Given the description of an element on the screen output the (x, y) to click on. 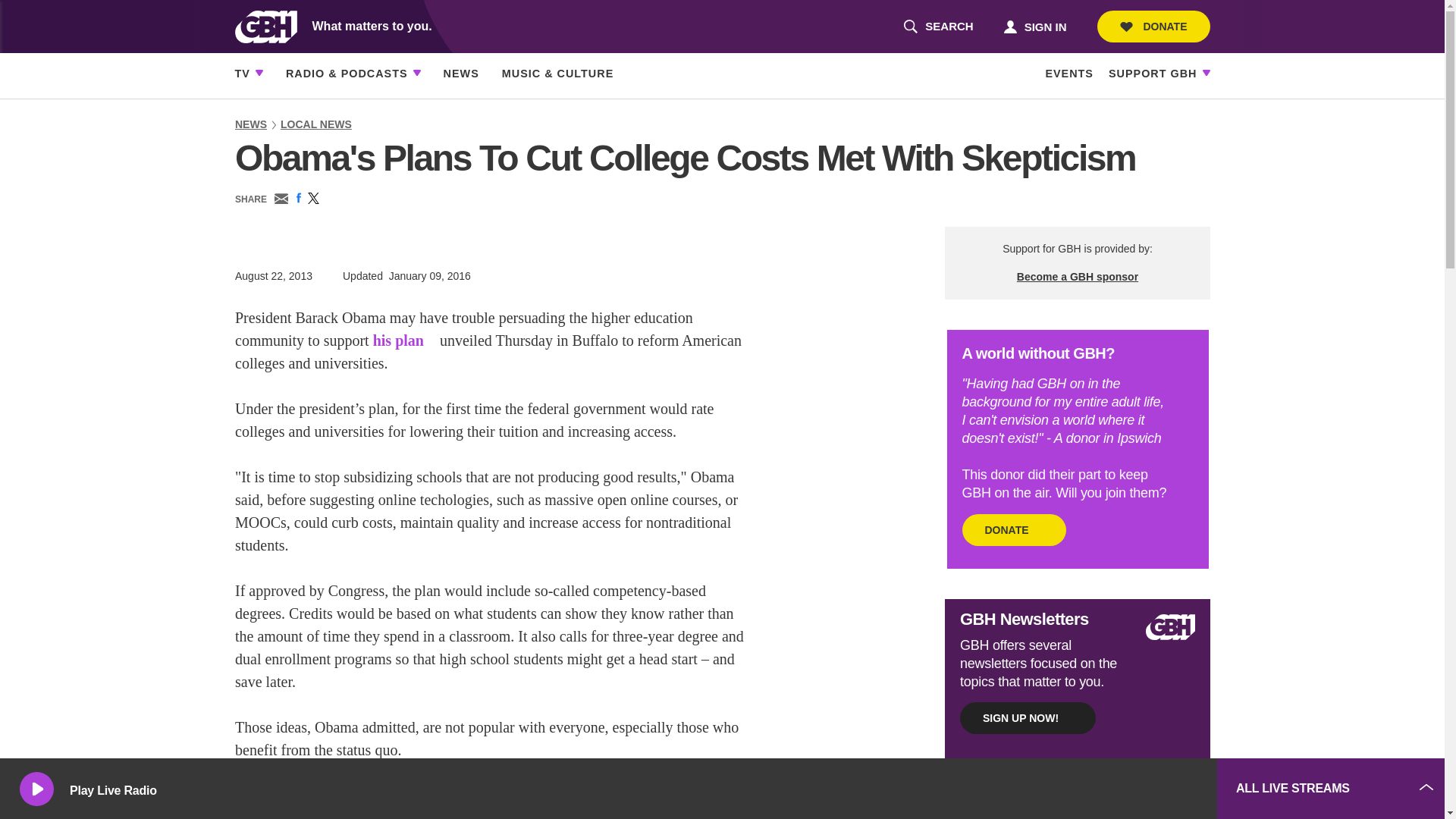
SIGN IN (1034, 25)
DONATE (1153, 26)
EVENTS (937, 26)
